Given the description of an element on the screen output the (x, y) to click on. 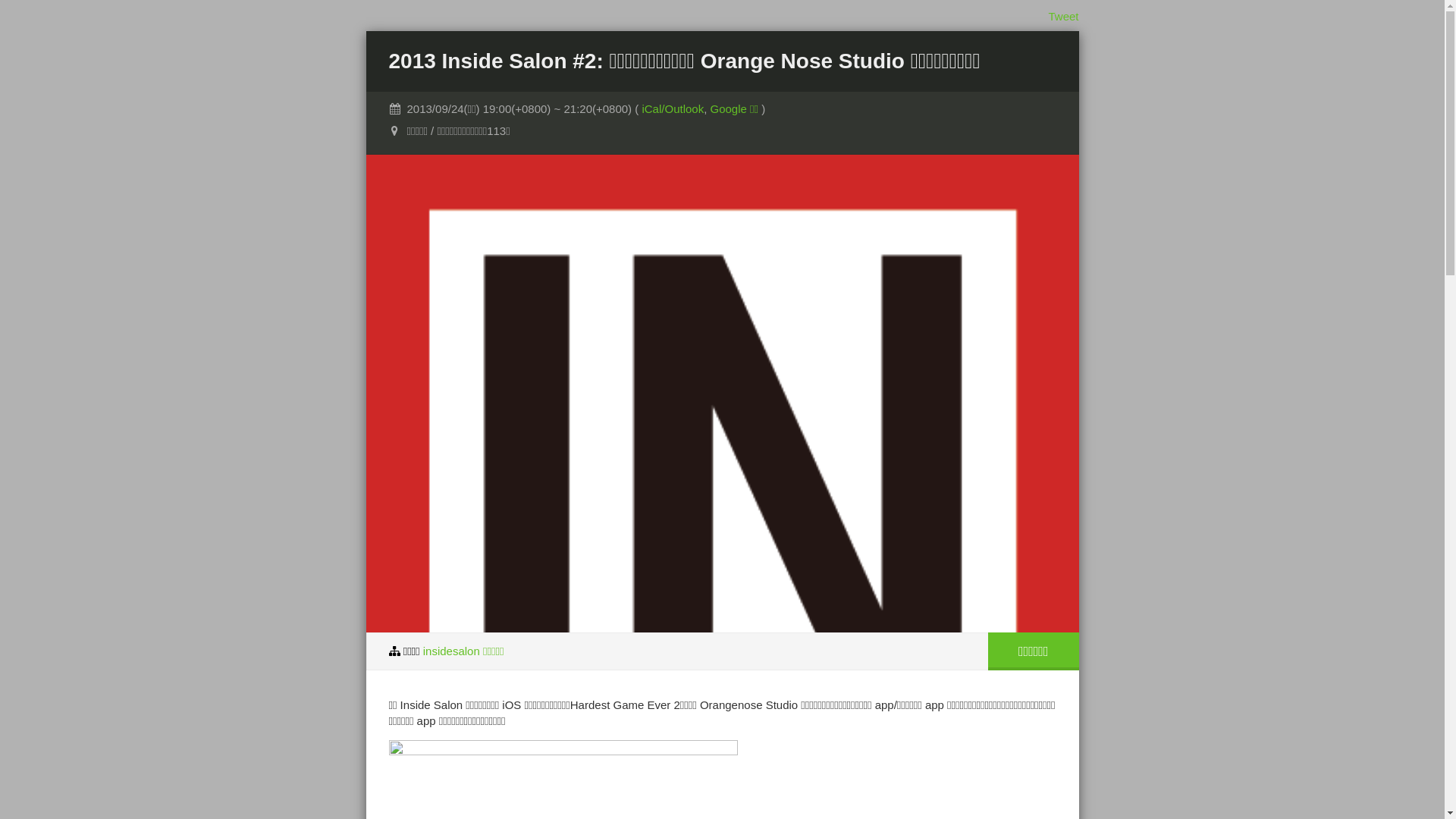
Tweet Element type: text (1063, 15)
iCal/Outlook Element type: text (672, 108)
